Given the description of an element on the screen output the (x, y) to click on. 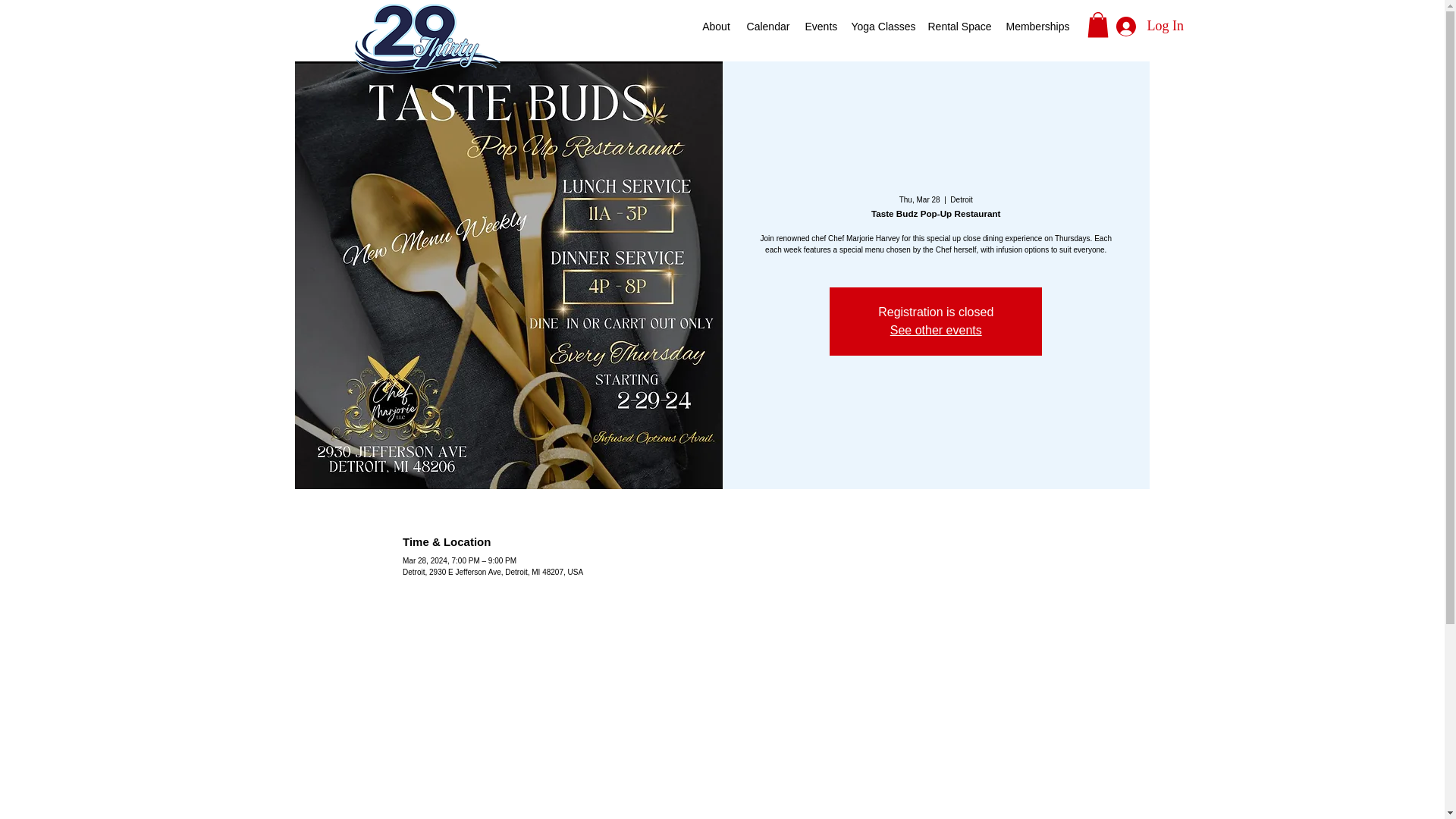
About (715, 26)
See other events (935, 329)
Yoga Classes (881, 26)
Log In (1142, 26)
Calendar (767, 26)
Events (819, 26)
Rental Space (958, 26)
